Given the description of an element on the screen output the (x, y) to click on. 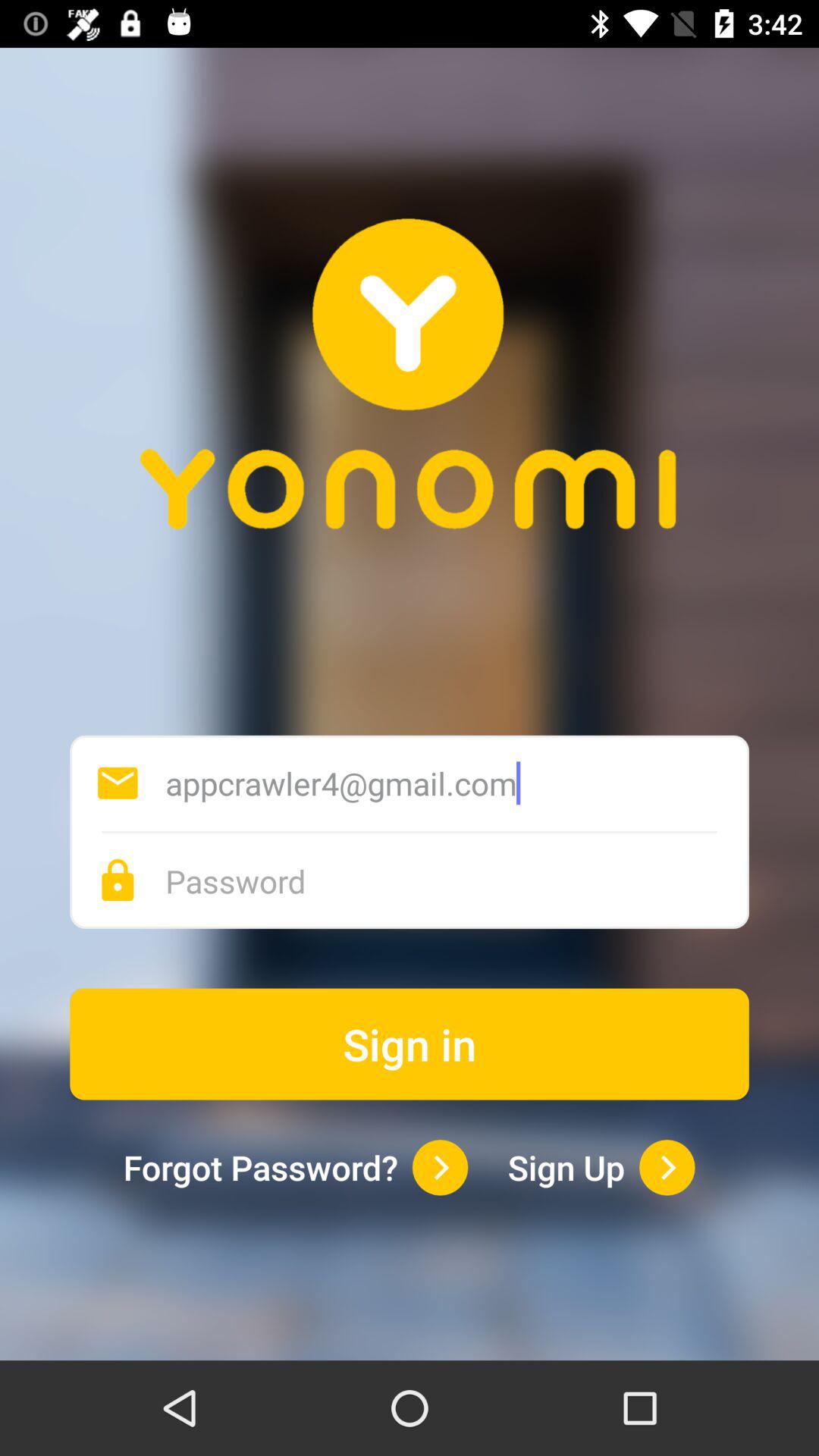
sign up (667, 1167)
